Given the description of an element on the screen output the (x, y) to click on. 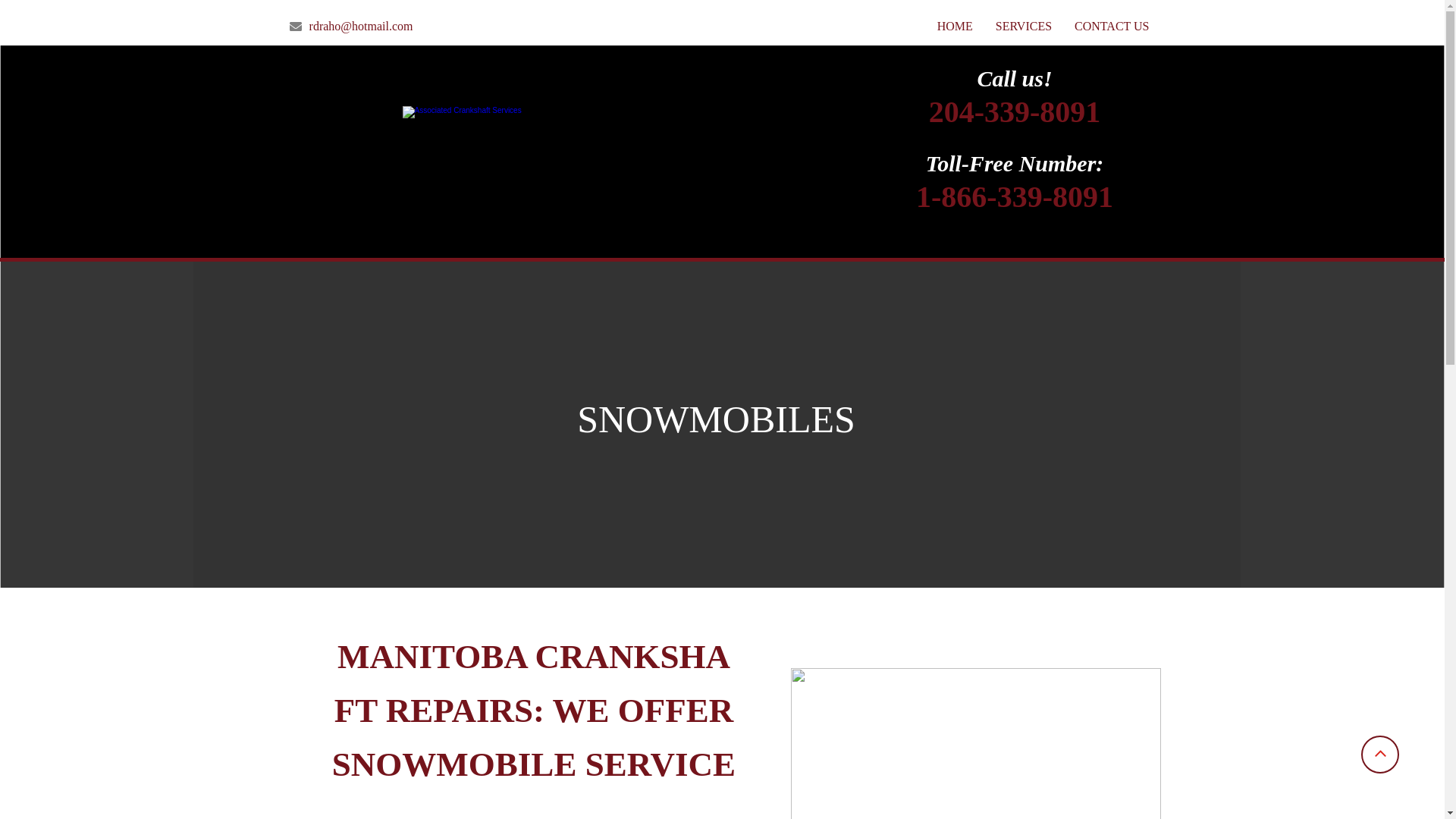
HOME Element type: text (954, 26)
SERVICES Element type: text (1023, 26)
204-339-8091 Element type: text (1014, 119)
1-866-339-8091 Element type: text (1014, 204)
CONTACT US Element type: text (1111, 26)
rdraho@hotmail.com Element type: text (350, 26)
